Given the description of an element on the screen output the (x, y) to click on. 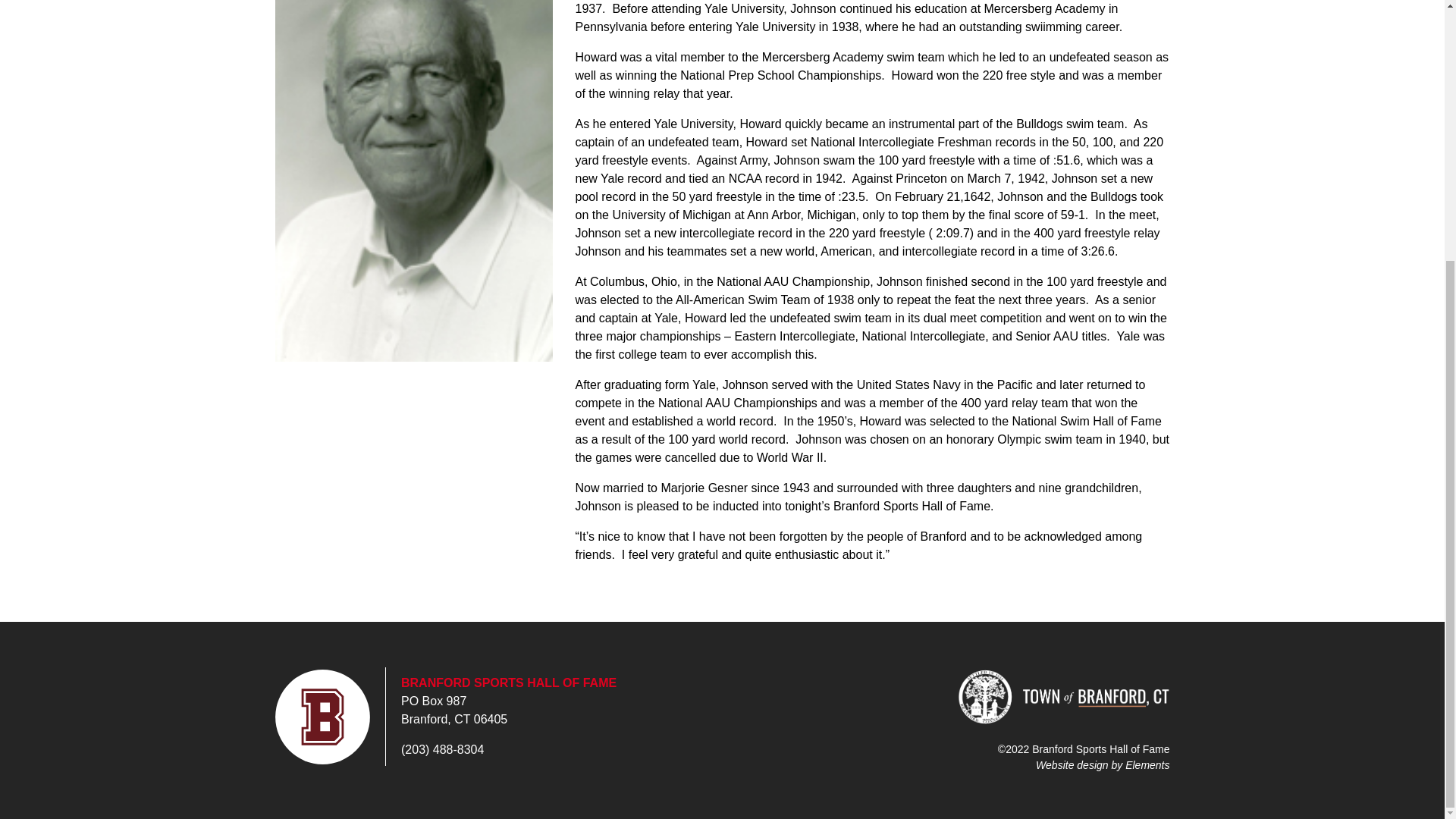
Elements (1147, 764)
